Given the description of an element on the screen output the (x, y) to click on. 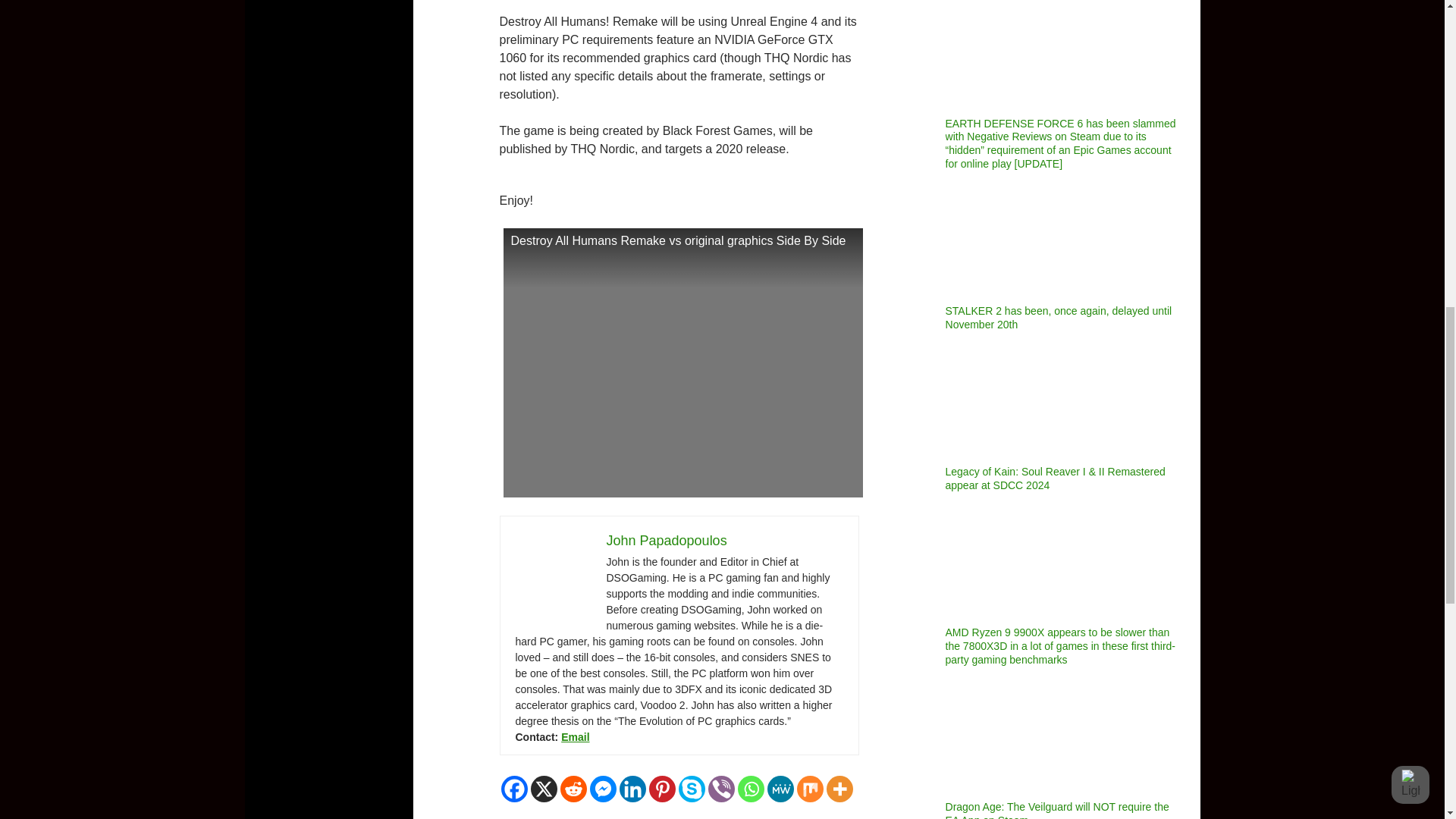
Destroy All Humans Remake vs original graphics Side By Side (683, 362)
John Papadopoulos (666, 540)
Email (574, 736)
Facebook (513, 788)
